Given the description of an element on the screen output the (x, y) to click on. 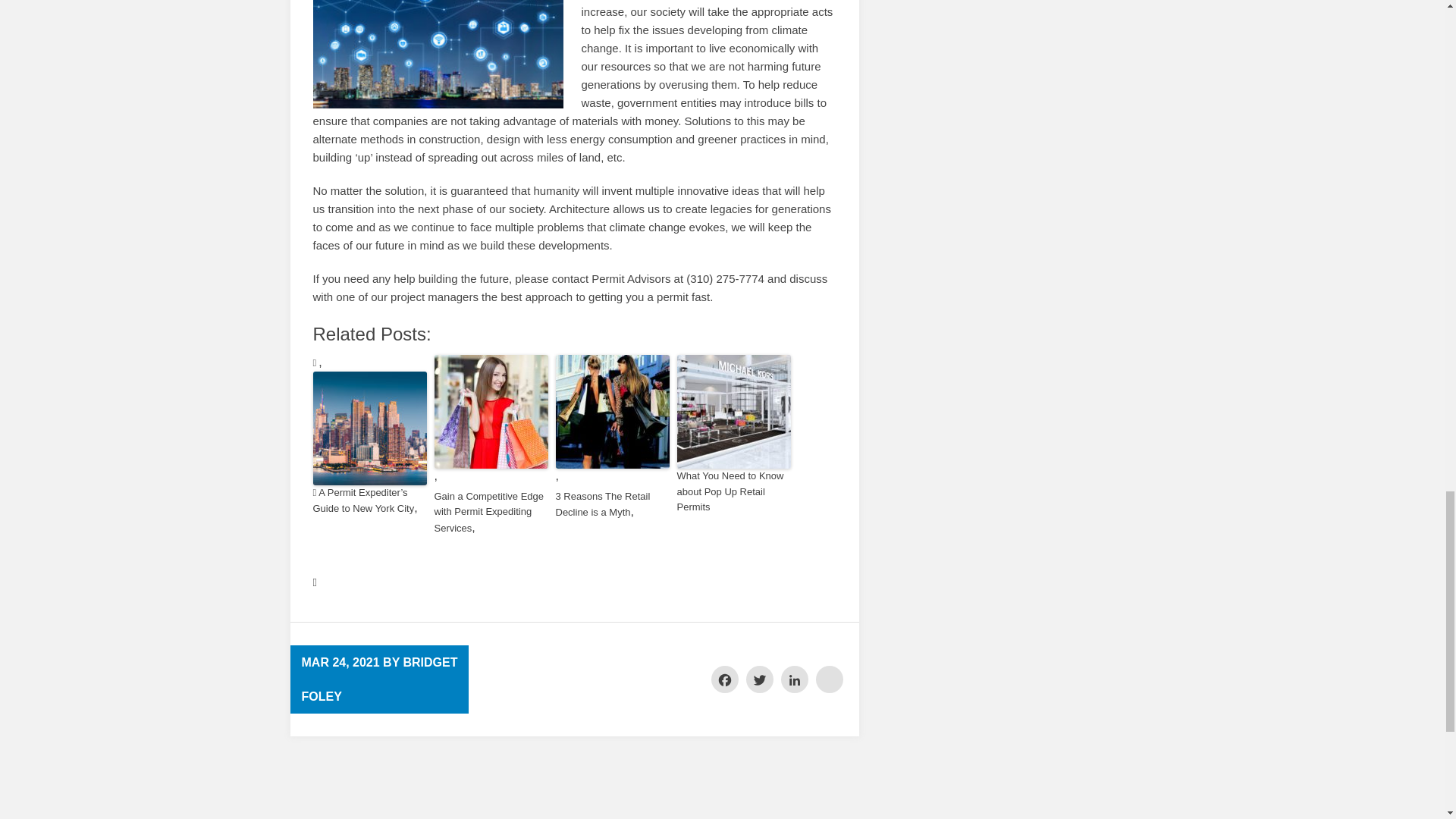
Facebook (724, 678)
LinkedIn (794, 678)
Twitter (759, 678)
Facebook (724, 678)
Twitter (759, 678)
Gain a Competitive Edge with Permit Expediting Services (490, 512)
3 Reasons The Retail Decline is a Myth (611, 504)
LinkedIn (794, 678)
